Given the description of an element on the screen output the (x, y) to click on. 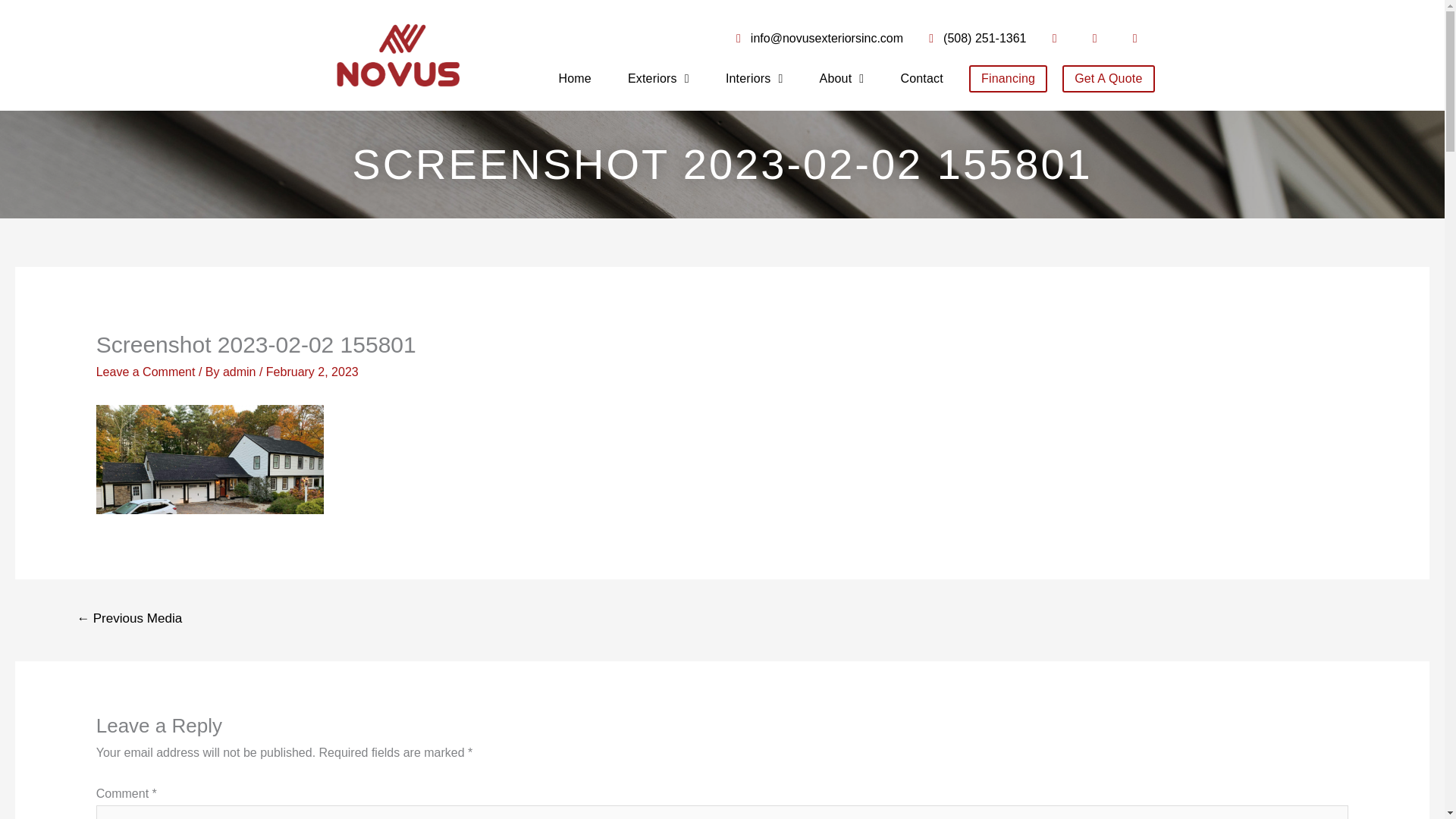
Get A Quote (1108, 78)
Financing (1007, 78)
Interiors (753, 78)
Exteriors (658, 78)
Home (574, 78)
View all posts by admin (240, 371)
About (842, 78)
Contact (921, 78)
